Given the description of an element on the screen output the (x, y) to click on. 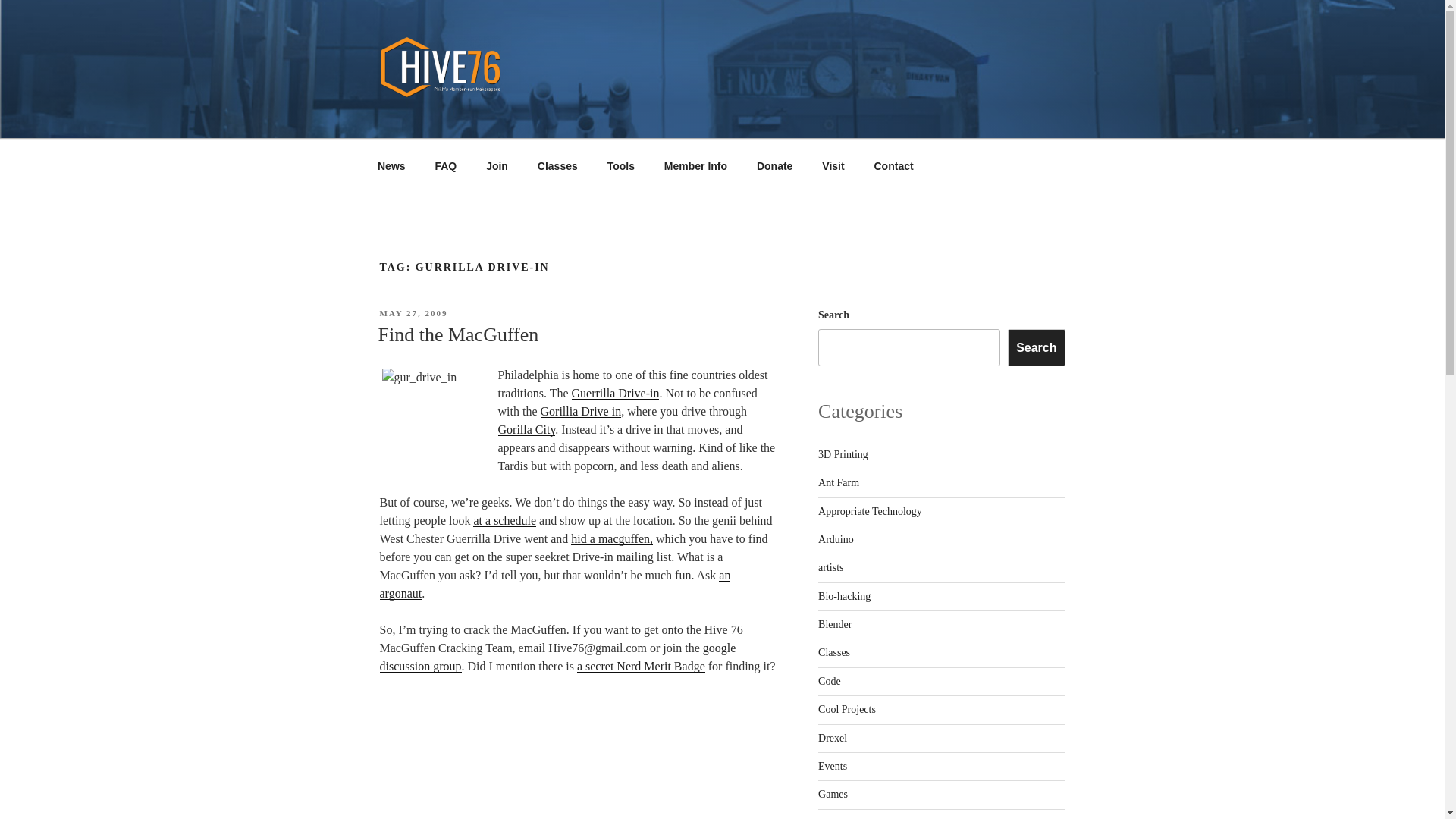
Classes (834, 652)
Gorilla City (525, 429)
Member Info (694, 165)
Code (829, 681)
at a schedule (504, 520)
Classes (557, 165)
Visit (833, 165)
Cool Projects (847, 708)
HIVE76 (431, 119)
an argonaut (554, 583)
Contact (893, 165)
Tools (620, 165)
gardening (839, 818)
Bio-hacking (844, 595)
Gorillia Drive in (580, 410)
